Given the description of an element on the screen output the (x, y) to click on. 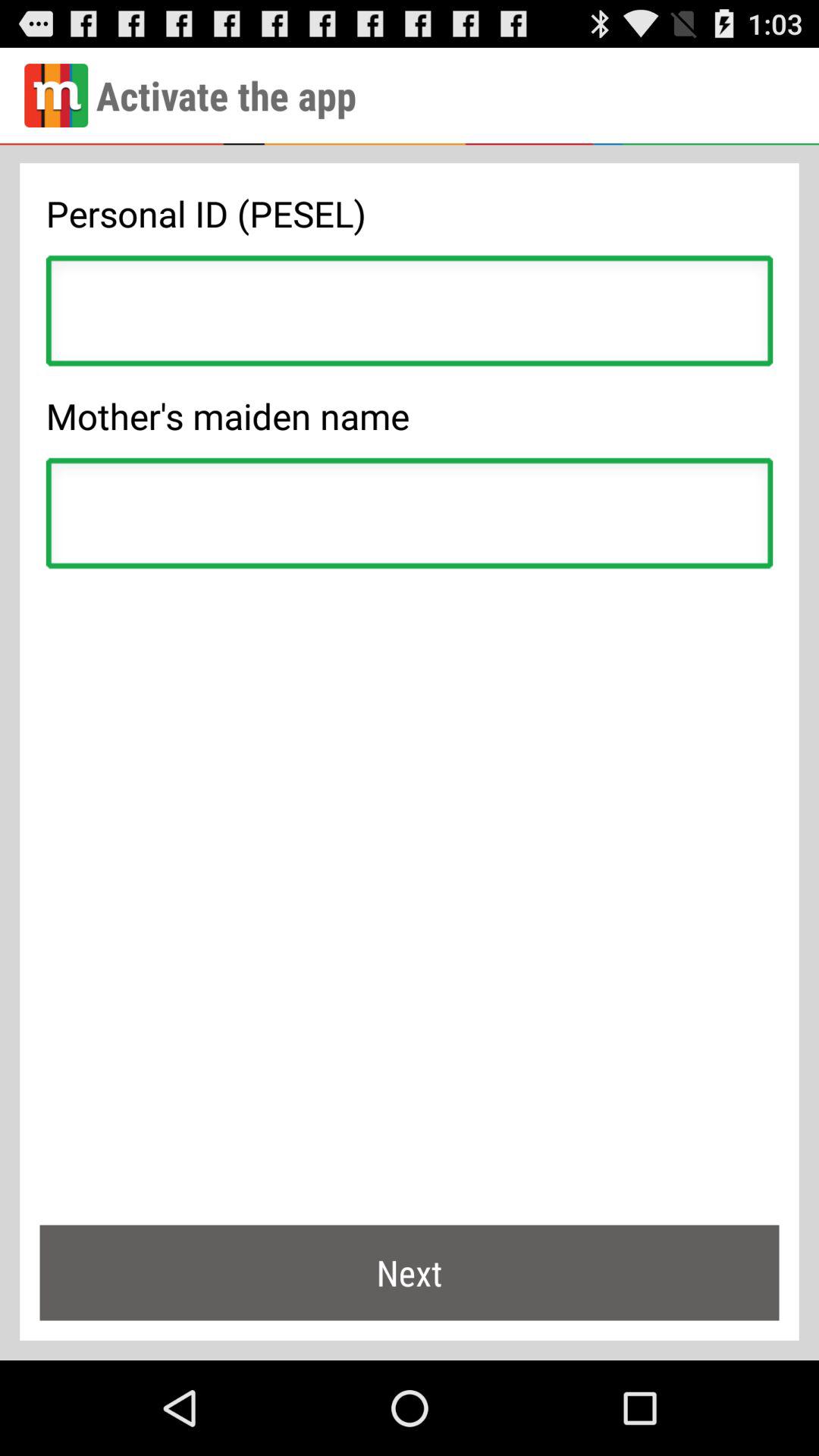
input mother 's maiden name (409, 516)
